Given the description of an element on the screen output the (x, y) to click on. 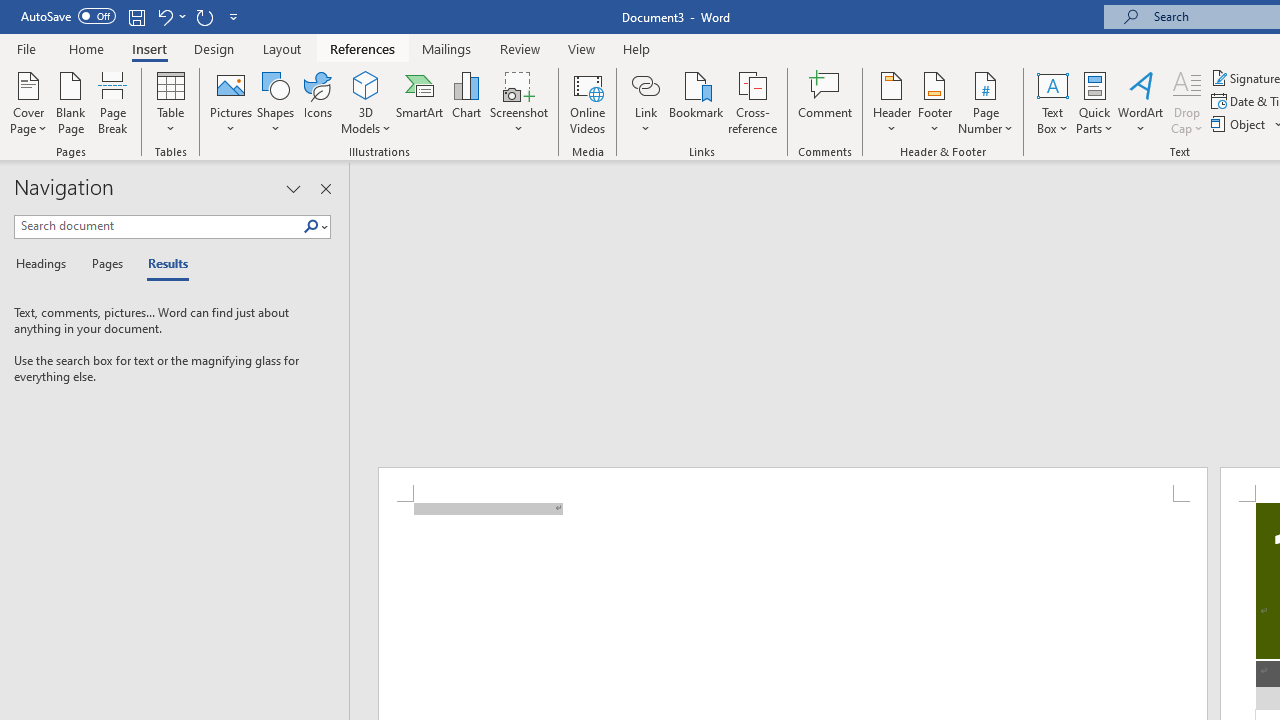
Chart... (466, 102)
Footer (934, 102)
Header (891, 102)
Comment (825, 102)
Cover Page (28, 102)
Bookmark... (695, 102)
Text Box (1052, 102)
